Given the description of an element on the screen output the (x, y) to click on. 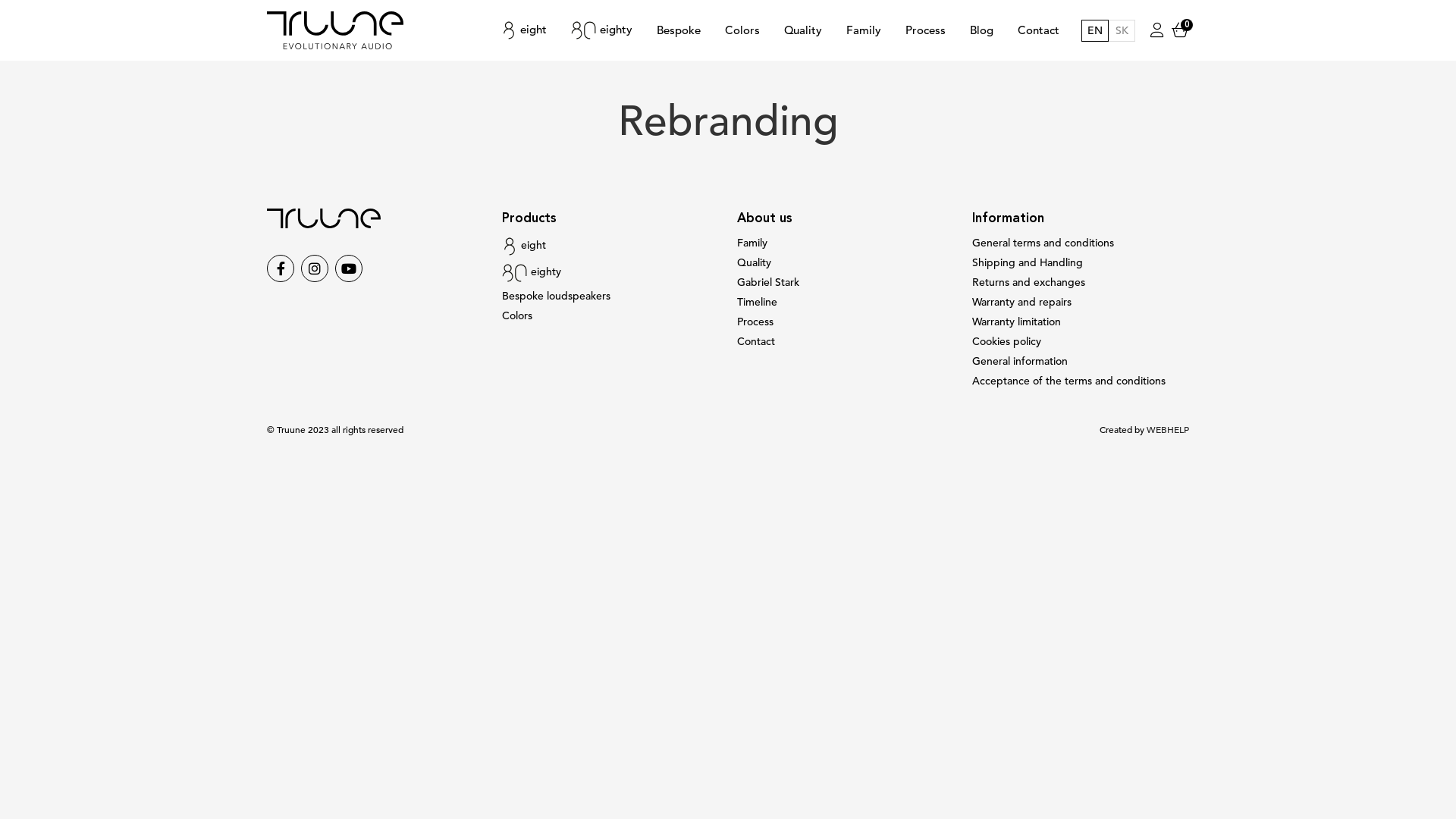
Family Element type: text (752, 242)
eight Element type: text (523, 29)
SK Element type: text (1121, 30)
Warranty limitation Element type: text (1016, 321)
Quality Element type: text (803, 29)
Colors Element type: text (741, 29)
eighty Element type: text (531, 271)
General terms and conditions Element type: text (1042, 242)
Process Element type: text (925, 29)
Acceptance of the terms and conditions Element type: text (1068, 380)
Warranty and repairs Element type: text (1021, 301)
General information Element type: text (1019, 360)
eight Element type: text (524, 244)
0 Element type: text (1180, 29)
EN Element type: text (1094, 30)
Contact Element type: text (756, 341)
Shipping and Handling Element type: text (1027, 262)
Blog Element type: text (981, 29)
Process Element type: text (755, 321)
Timeline Element type: text (757, 301)
WEBHELP Element type: text (1167, 429)
Bespoke loudspeakers Element type: text (556, 295)
Returns and exchanges Element type: text (1028, 282)
Quality Element type: text (754, 262)
eighty Element type: text (601, 29)
Cookies policy Element type: text (1006, 341)
Gabriel Stark Element type: text (768, 282)
Bespoke Element type: text (678, 29)
Family Element type: text (863, 29)
Colors Element type: text (517, 315)
Contact Element type: text (1038, 29)
